Given the description of an element on the screen output the (x, y) to click on. 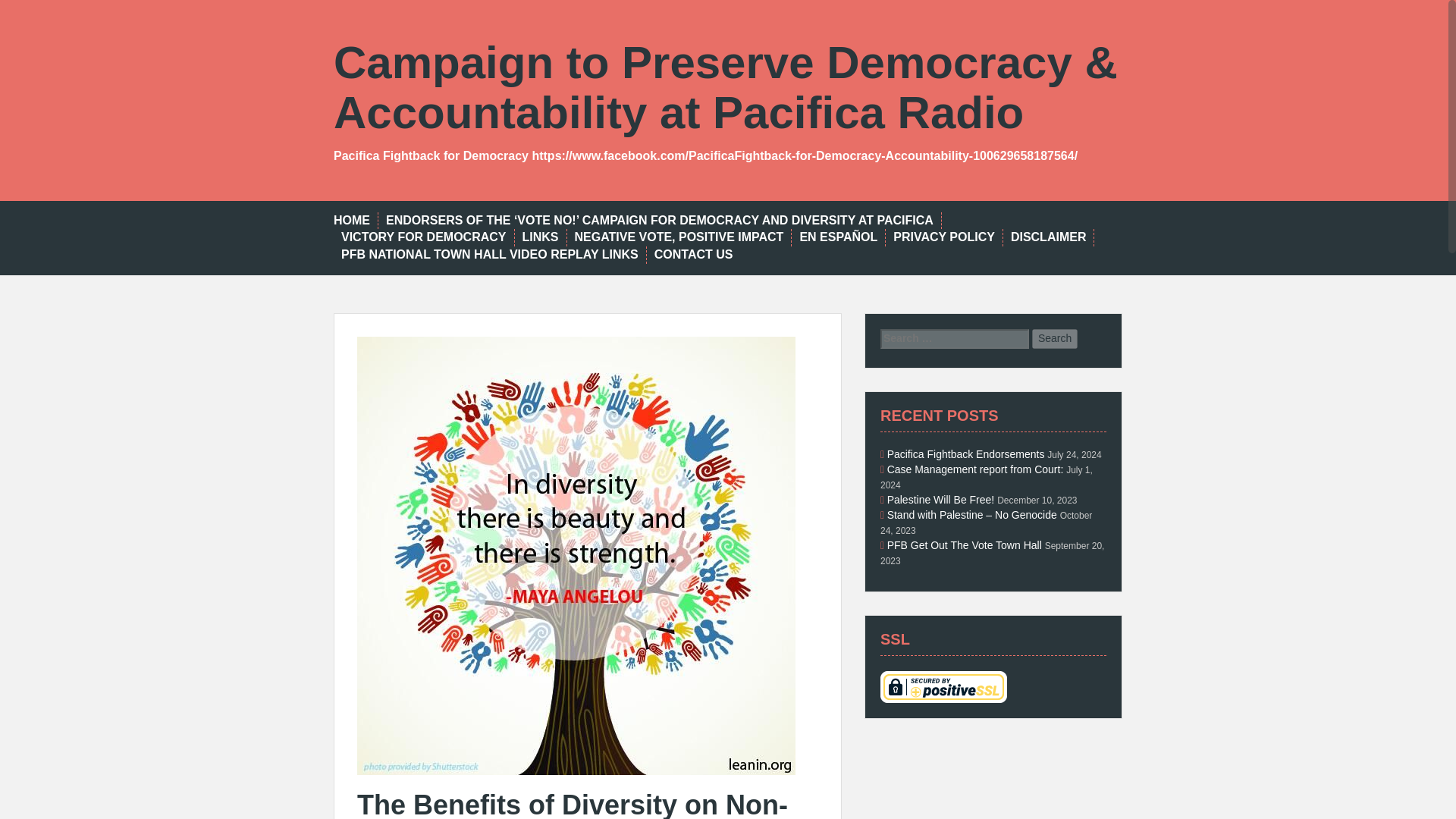
Search (1054, 338)
Search (1054, 338)
PFB NATIONAL TOWN HALL VIDEO REPLAY LINKS (489, 254)
Case Management report from Court: (975, 469)
Pacifica Fightback Endorsements (965, 453)
PRIVACY POLICY (943, 237)
PFB Get Out The Vote Town Hall (964, 544)
VICTORY FOR DEMOCRACY (423, 237)
LINKS (539, 237)
HOME (351, 221)
Palestine Will Be Free! (940, 499)
CONTACT US (693, 254)
DISCLAIMER (1048, 237)
Search (1054, 338)
NEGATIVE VOTE, POSITIVE IMPACT (679, 237)
